Given the description of an element on the screen output the (x, y) to click on. 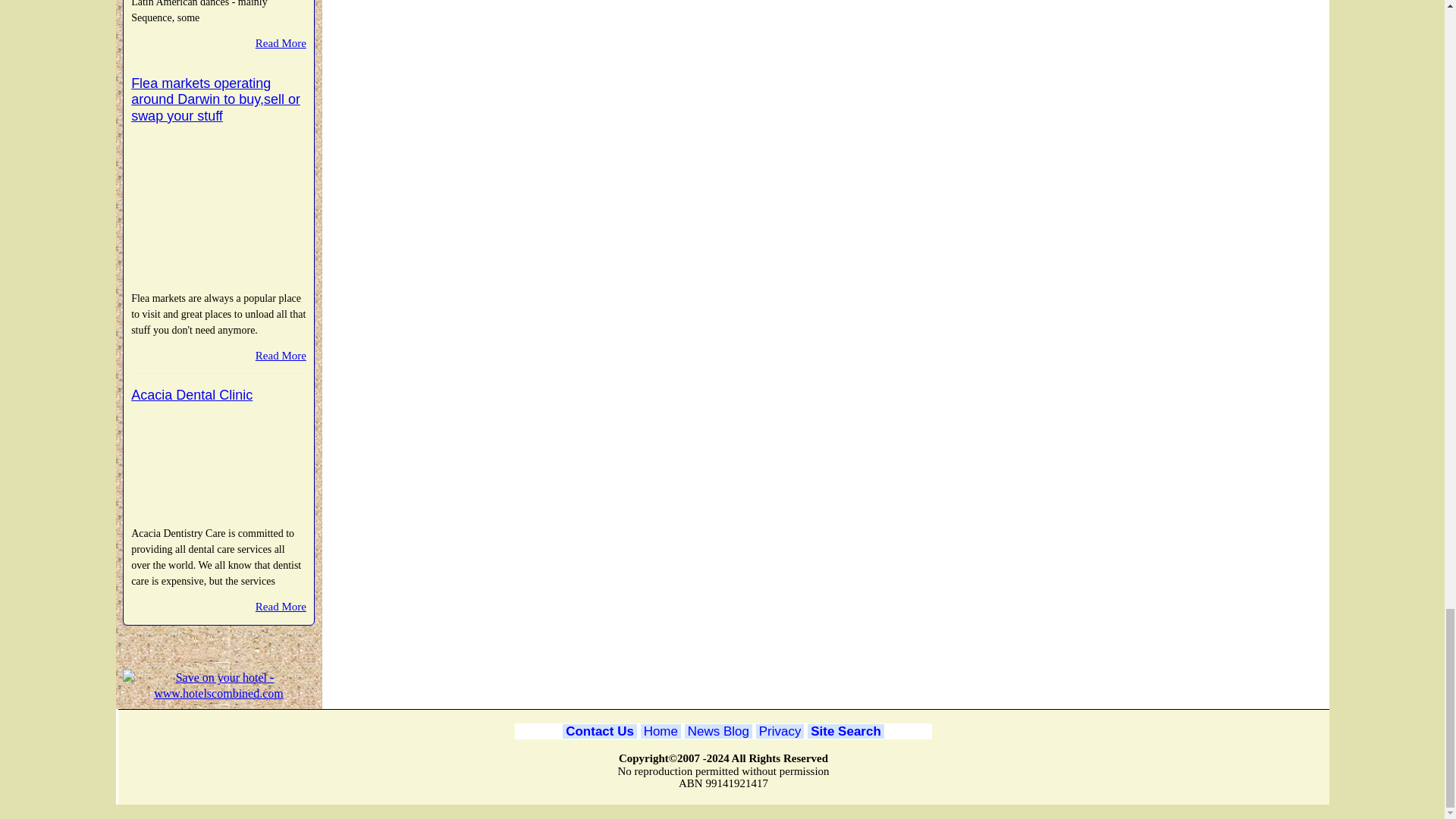
Save on your hotel - www.hotelscombined.com (218, 685)
